Given the description of an element on the screen output the (x, y) to click on. 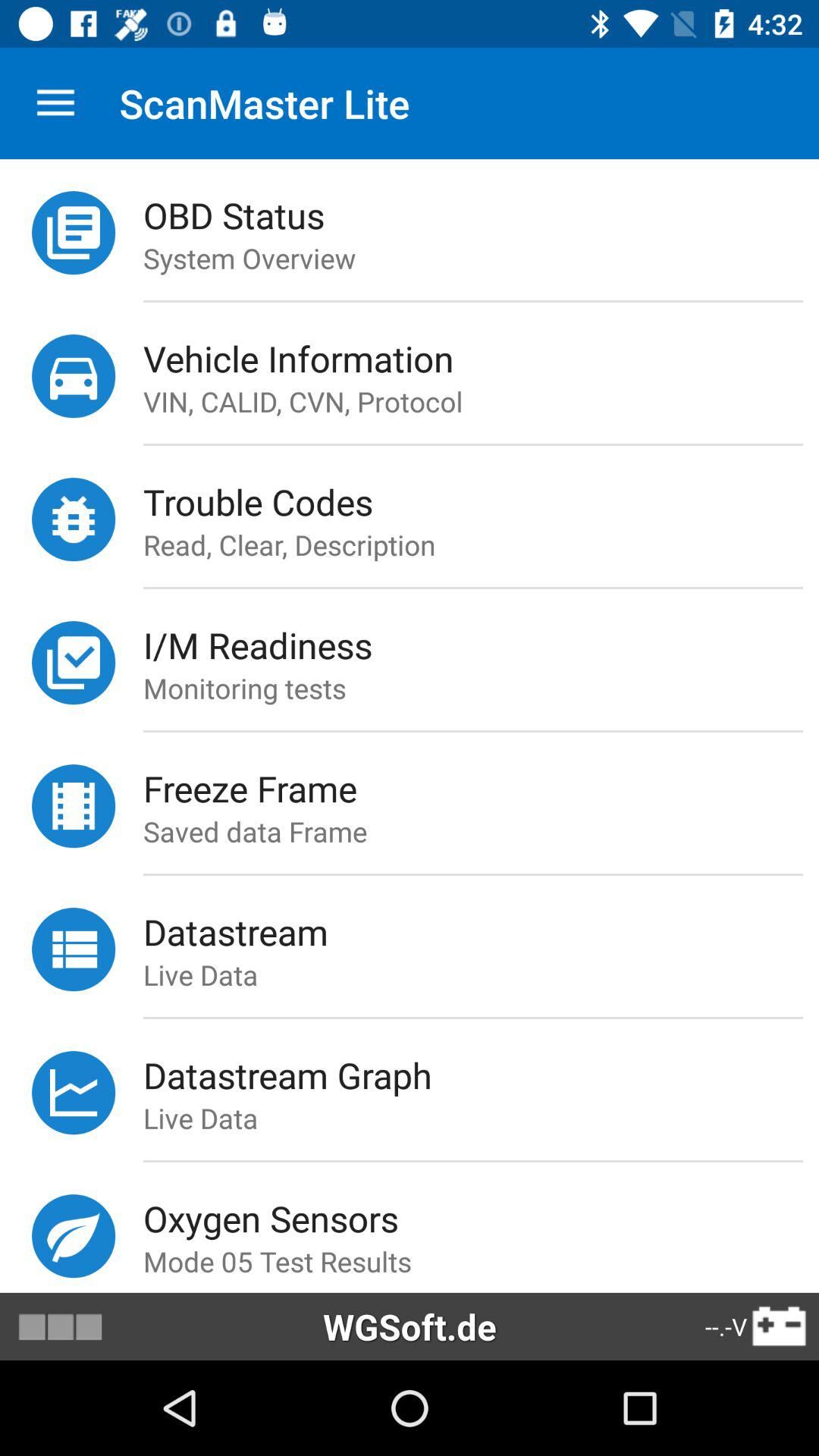
tap the item above the vin calid cvn item (481, 358)
